Given the description of an element on the screen output the (x, y) to click on. 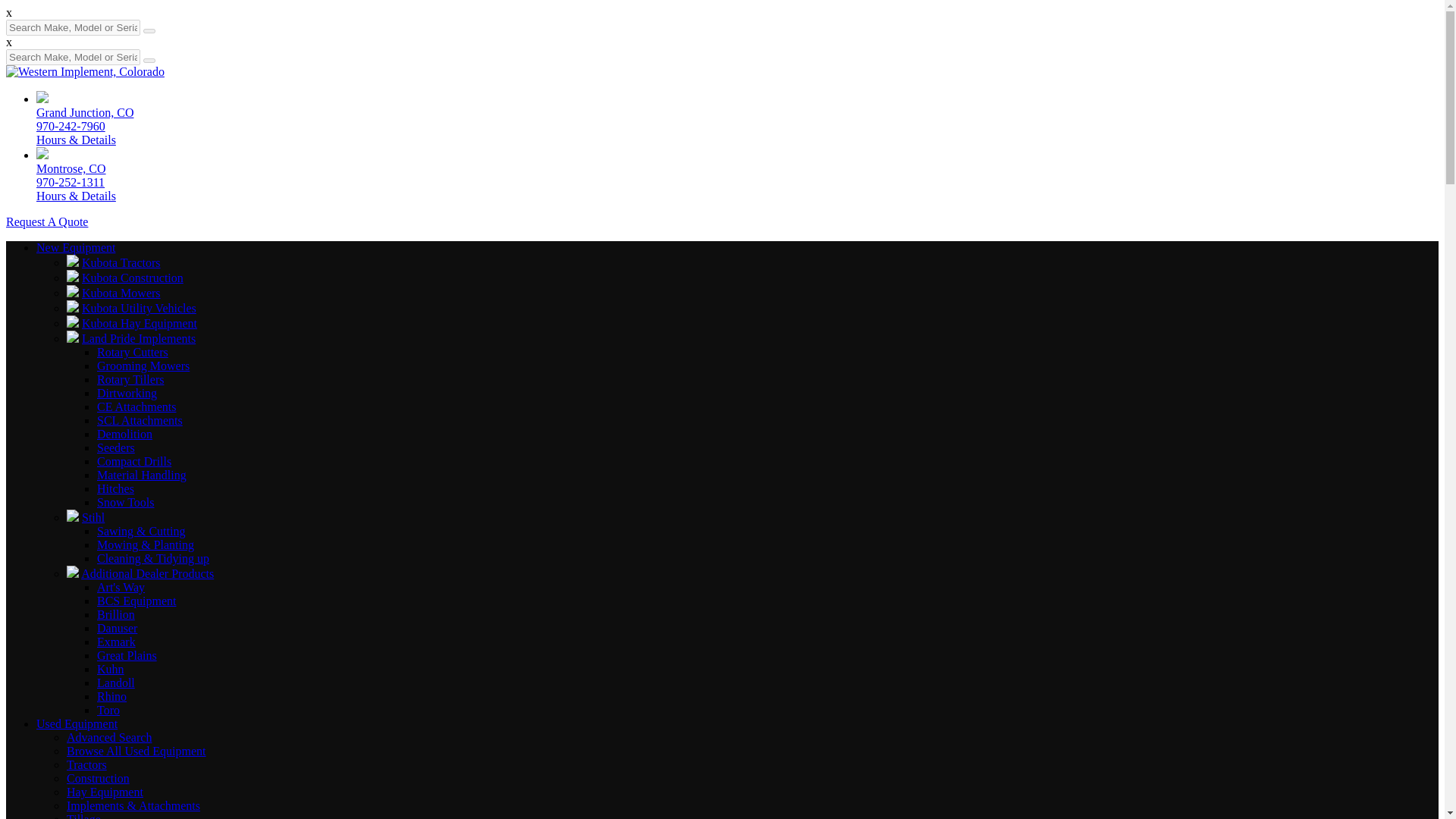
Request A Quote (46, 221)
Compact Drills (134, 461)
Demolition (124, 433)
Rotary Tillers (130, 379)
970-242-7960 (70, 125)
Material Handling (141, 474)
Rotary Cutters (132, 351)
SCL Attachments (140, 420)
Kubota Tractors (120, 262)
Land Pride Implements (138, 338)
